Given the description of an element on the screen output the (x, y) to click on. 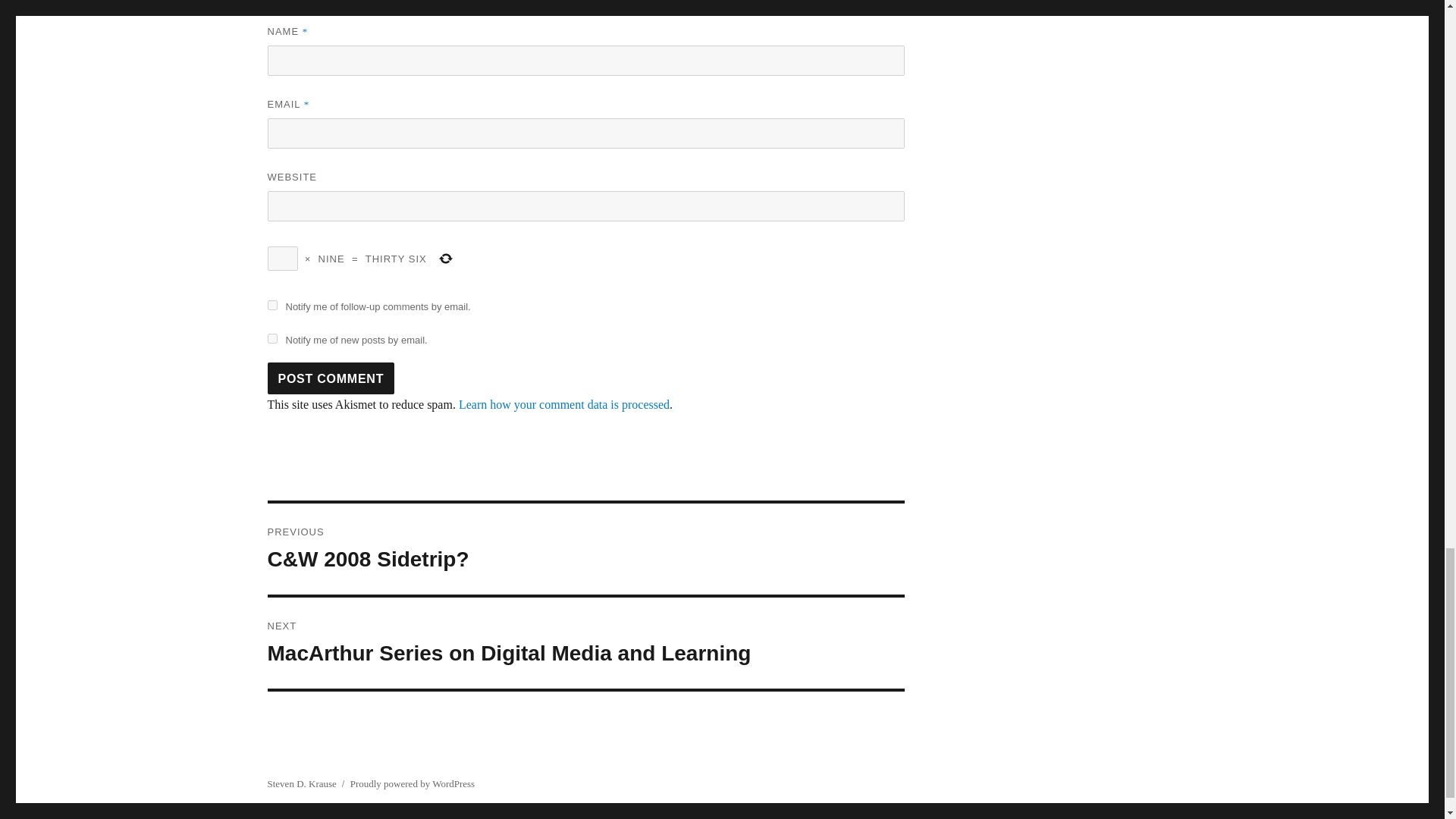
subscribe (271, 338)
Learn how your comment data is processed (563, 404)
subscribe (271, 305)
Post Comment (330, 377)
Post Comment (330, 377)
